Given the description of an element on the screen output the (x, y) to click on. 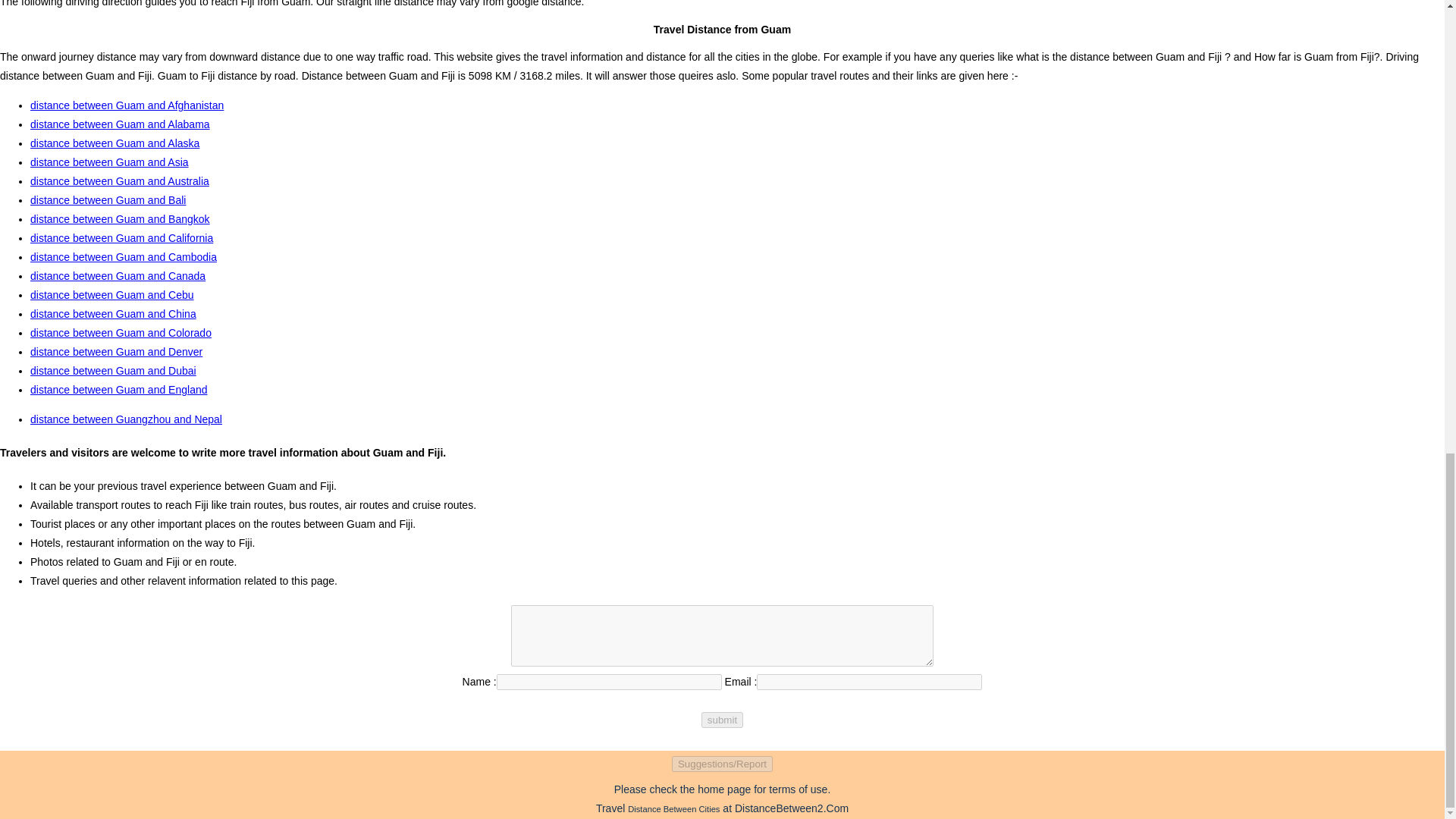
distance between Guam and Bangkok (119, 218)
submit (721, 719)
distance between Guam and Alaska (114, 143)
distance between Guam and Afghanistan (127, 105)
Distance Between Cities (673, 809)
distance between Guam and Australia (119, 181)
distance between Guam and Alabama (119, 123)
distance between Guam and Colorado (120, 332)
distance between Guam and Canada (117, 275)
distance between Guam and England (119, 389)
distance between Guam and Asia (109, 162)
distance between Guangzhou and Nepal (126, 419)
distance between Guam and California (121, 237)
distance between Guam and Cambodia (123, 256)
distance between Guam and China (113, 313)
